Given the description of an element on the screen output the (x, y) to click on. 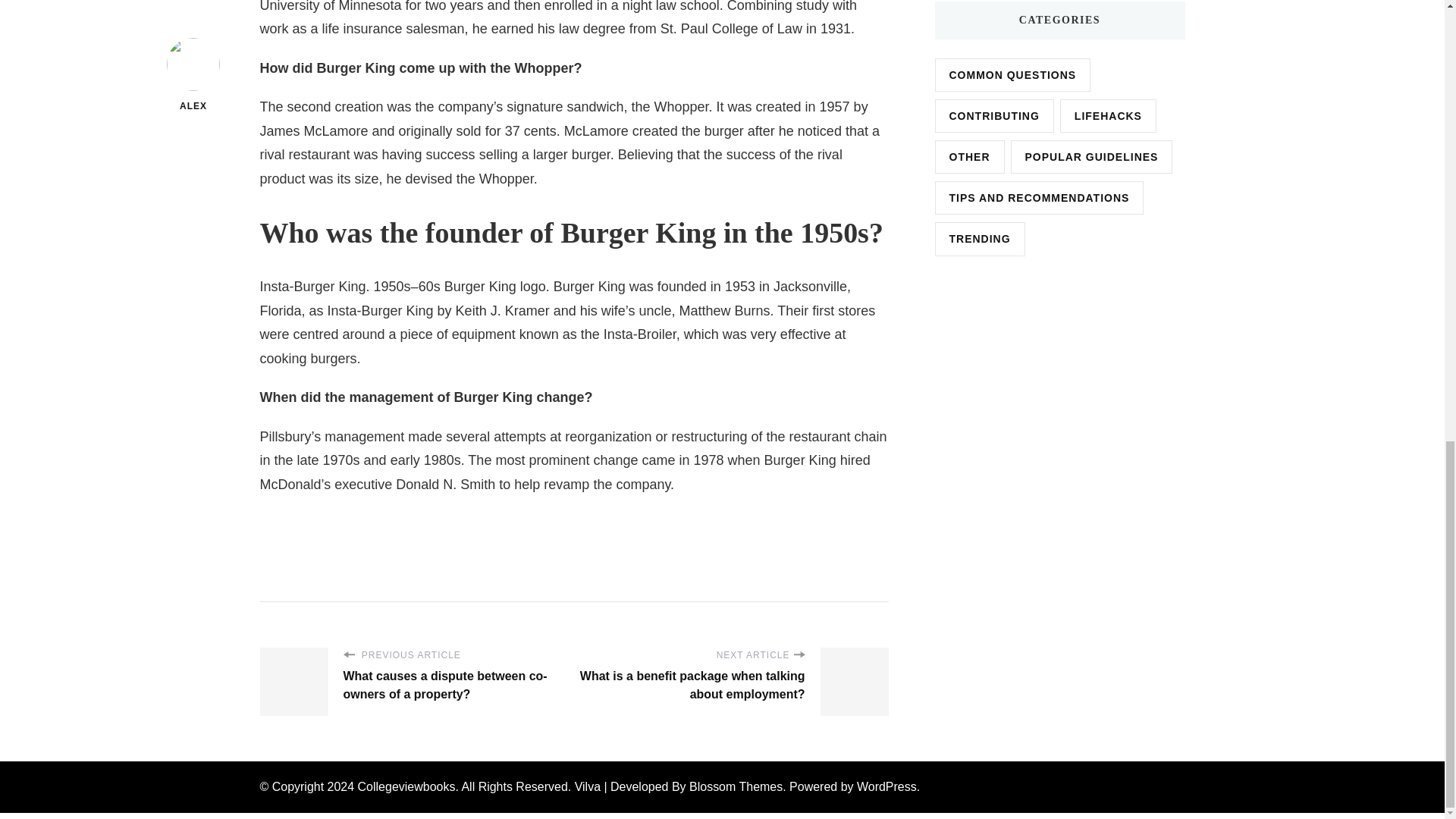
CONTRIBUTING (993, 115)
OTHER (969, 156)
COMMON QUESTIONS (1012, 74)
LIFEHACKS (1107, 115)
